Given the description of an element on the screen output the (x, y) to click on. 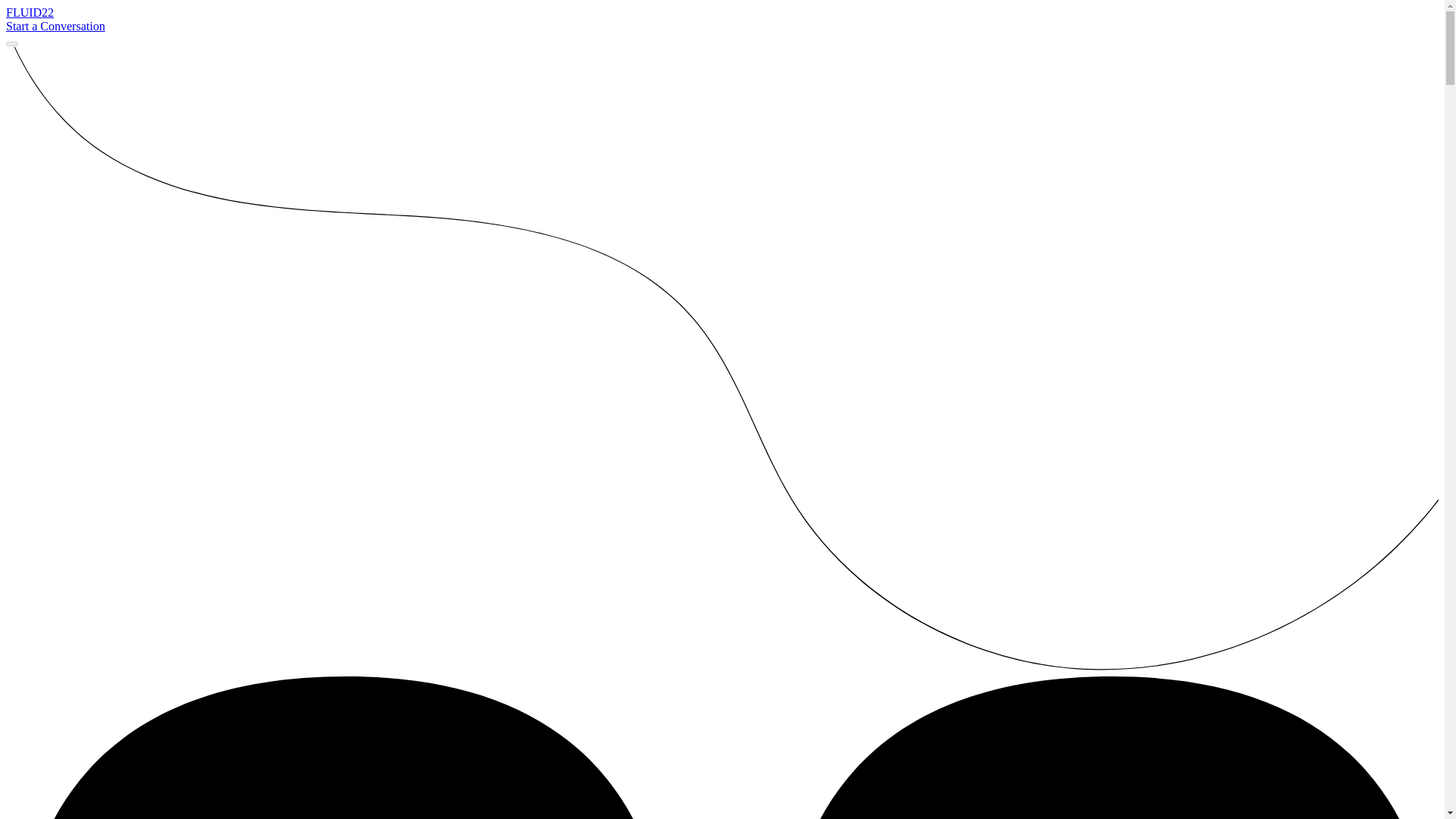
FLUID22 (29, 11)
